Given the description of an element on the screen output the (x, y) to click on. 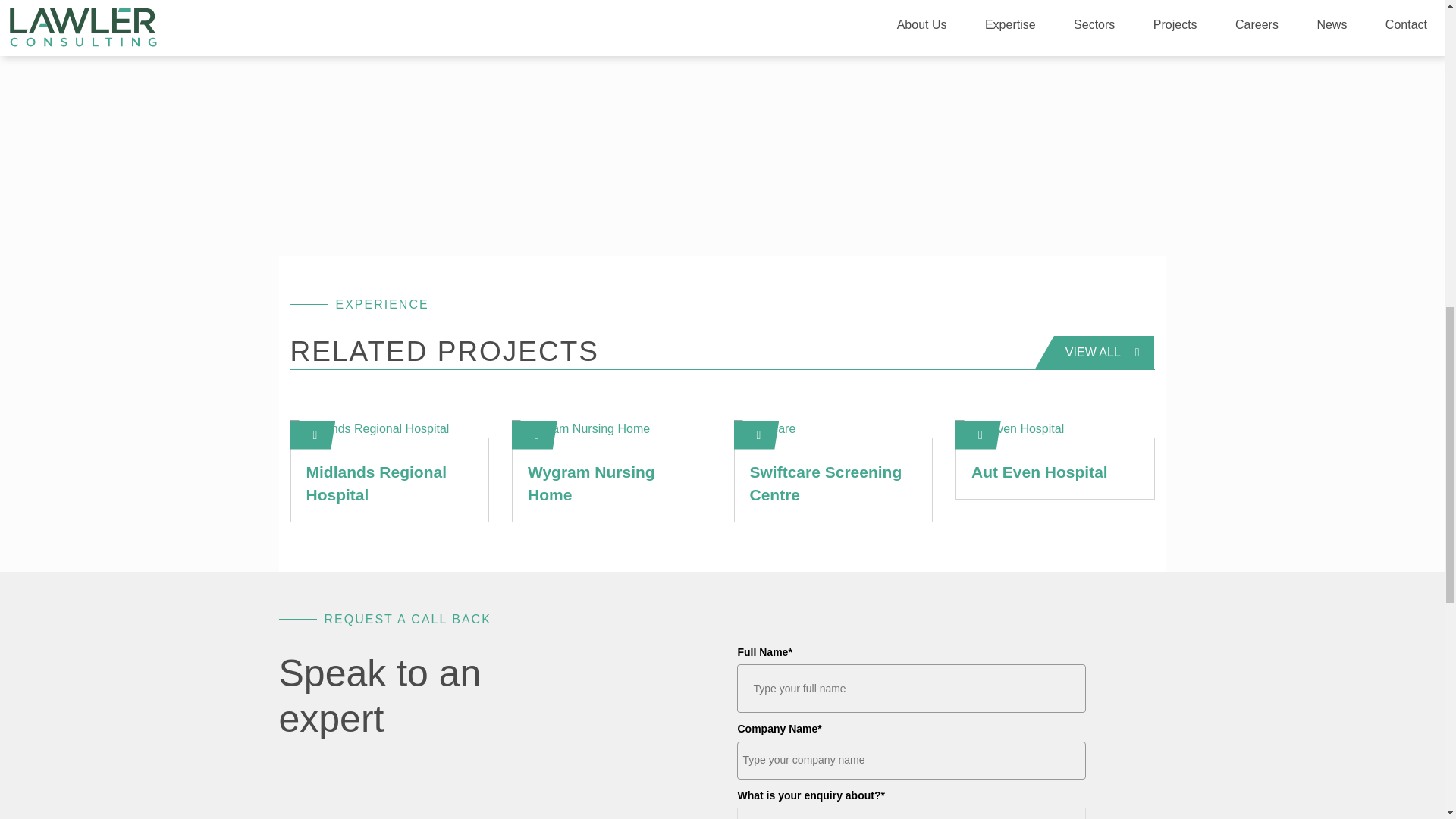
VIEW ALL (1094, 352)
